Given the description of an element on the screen output the (x, y) to click on. 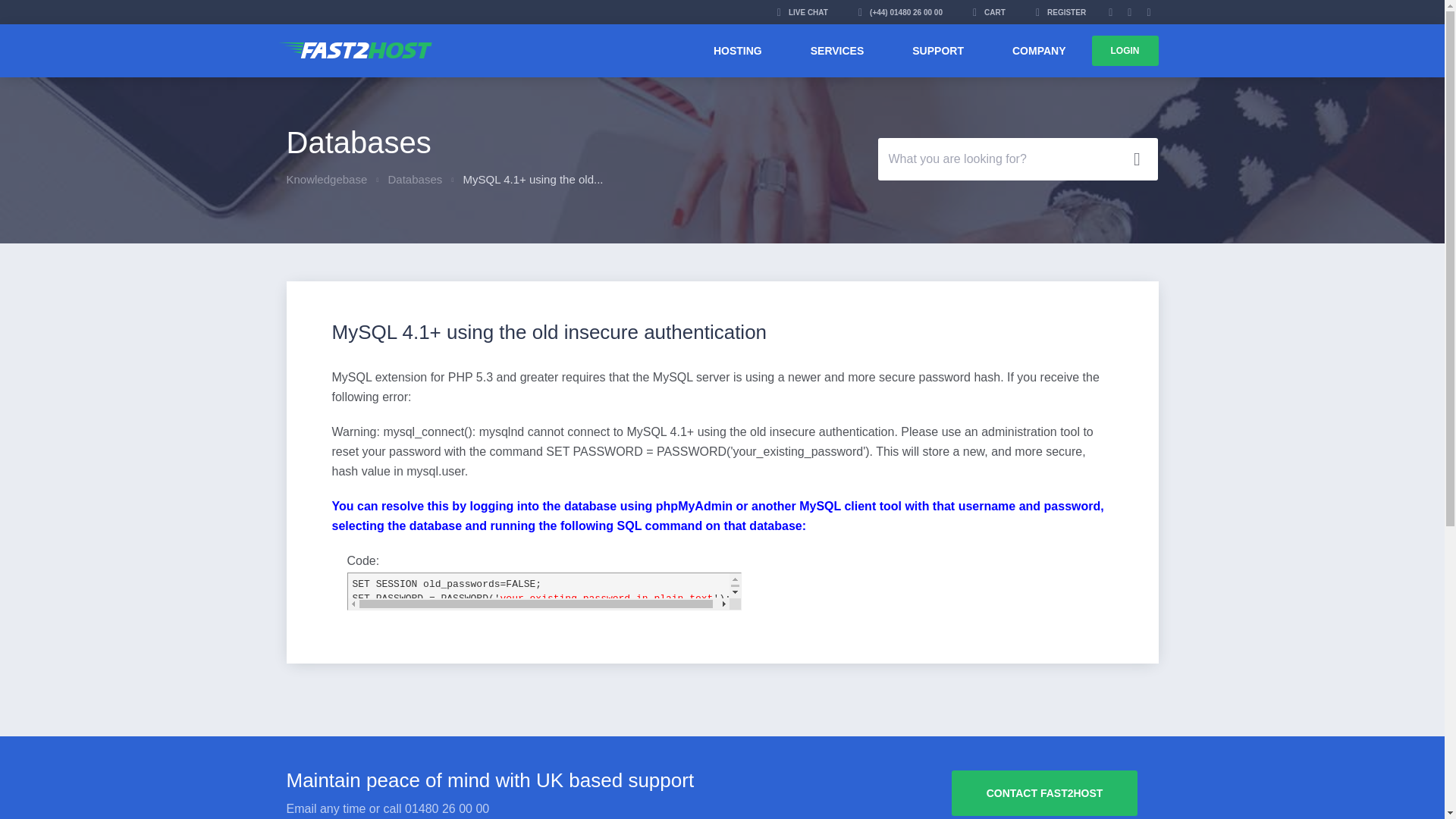
REGISTER (1060, 12)
SUPPORT (938, 50)
HOSTING (737, 50)
CART (989, 12)
Knowledgebase (327, 178)
LIVE CHAT (802, 12)
COMPANY (1039, 50)
SERVICES (836, 50)
LOGIN (1125, 51)
